Given the description of an element on the screen output the (x, y) to click on. 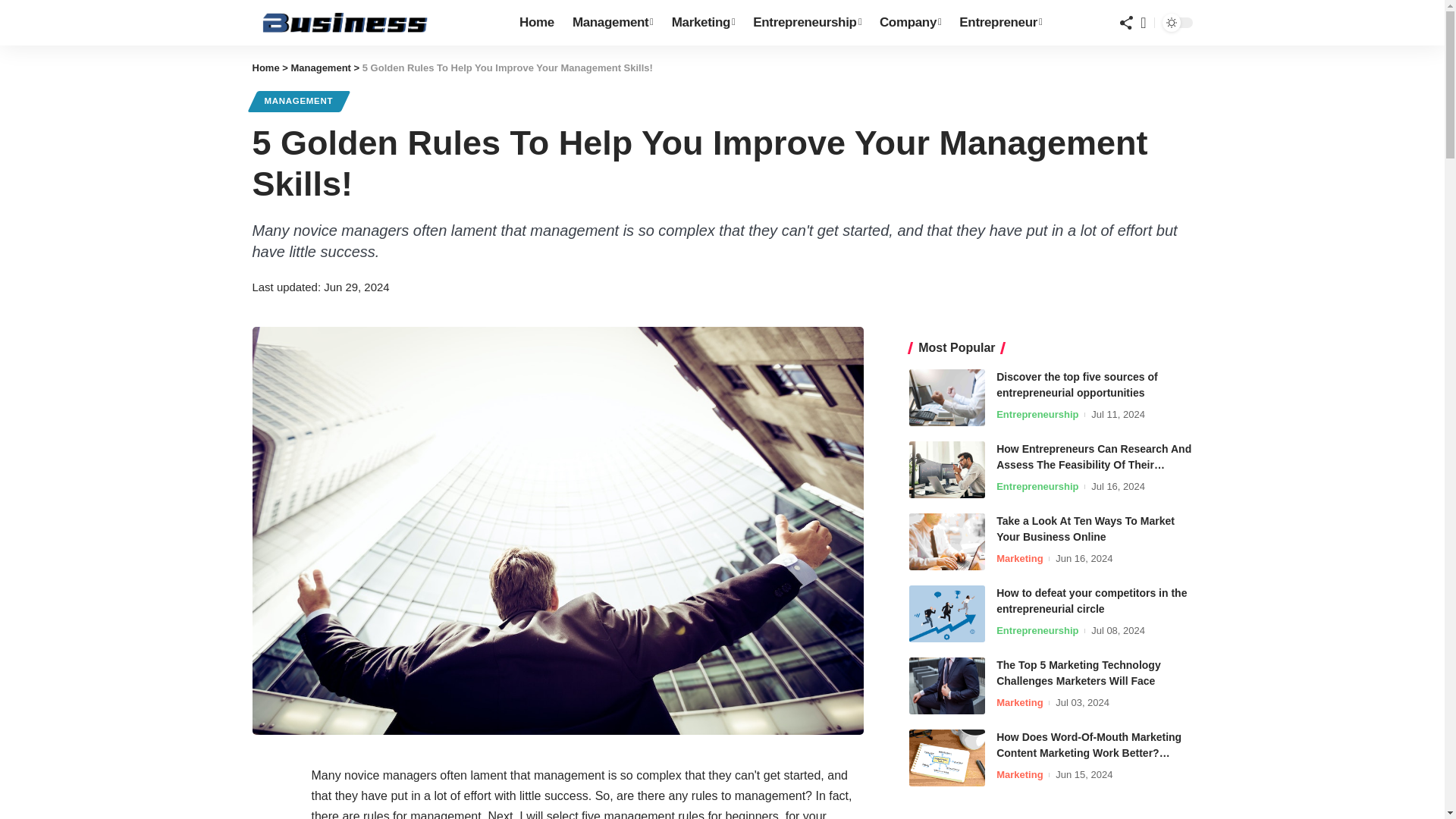
Entrepreneurship (807, 22)
Home (537, 22)
Company (910, 22)
Marketing (703, 22)
Management (612, 22)
home (373, 22)
